Given the description of an element on the screen output the (x, y) to click on. 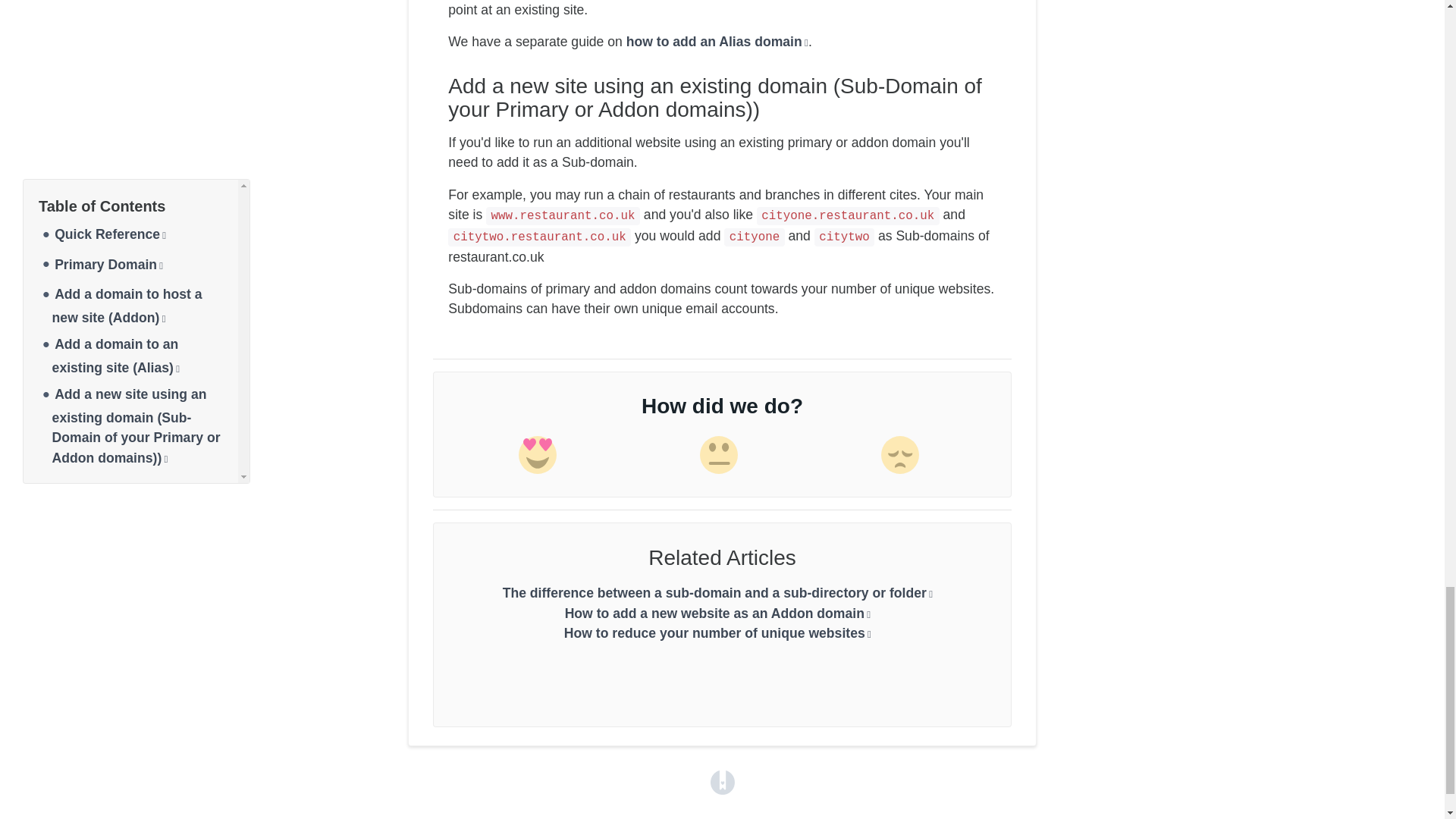
How to add a new website as an Addon domain (717, 613)
How to reduce your number of unique websites (717, 632)
how to add an Alias domain (717, 41)
Powered by HelpDocs (721, 780)
